Given the description of an element on the screen output the (x, y) to click on. 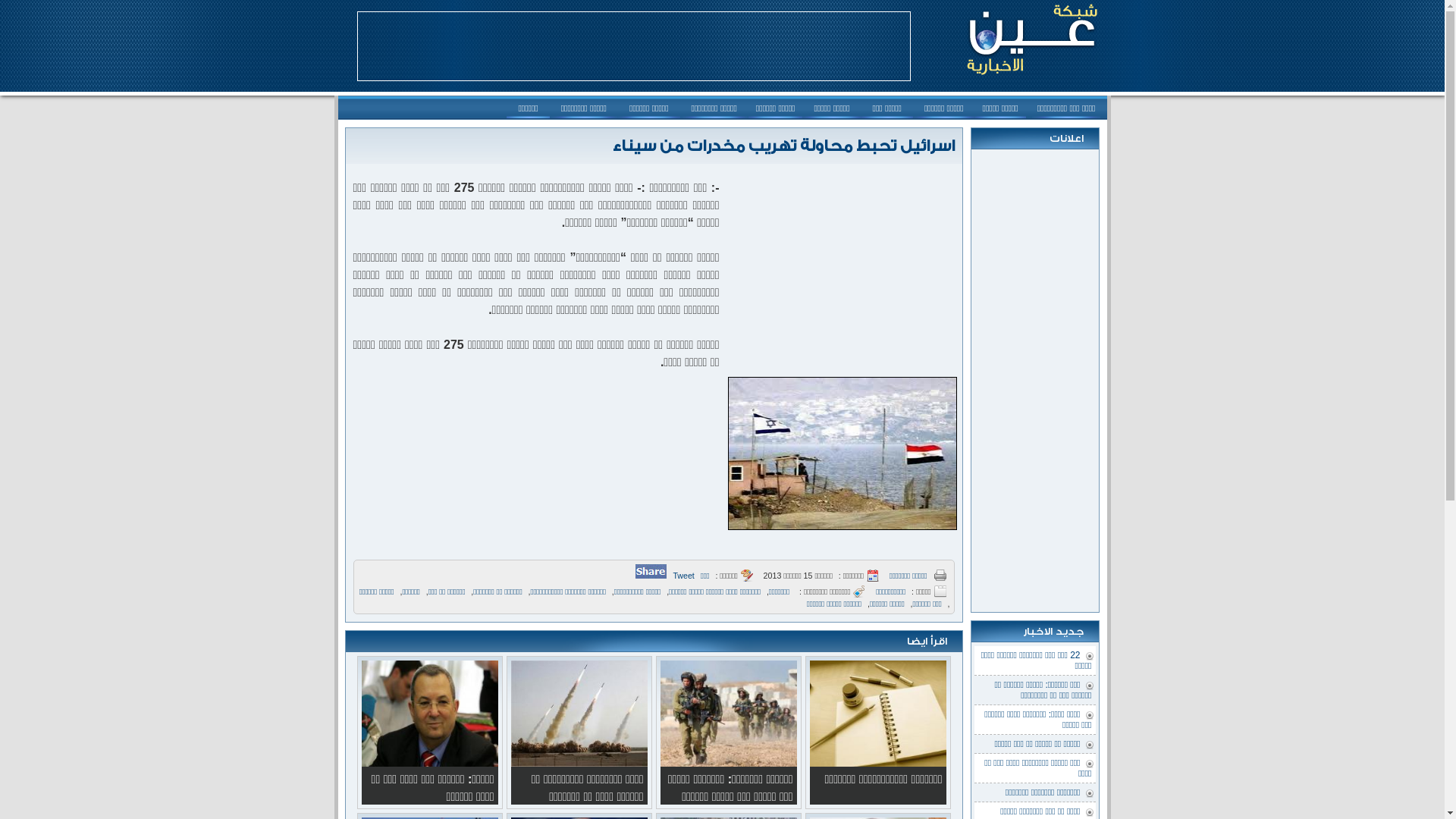
Tweet Element type: text (682, 575)
